Given the description of an element on the screen output the (x, y) to click on. 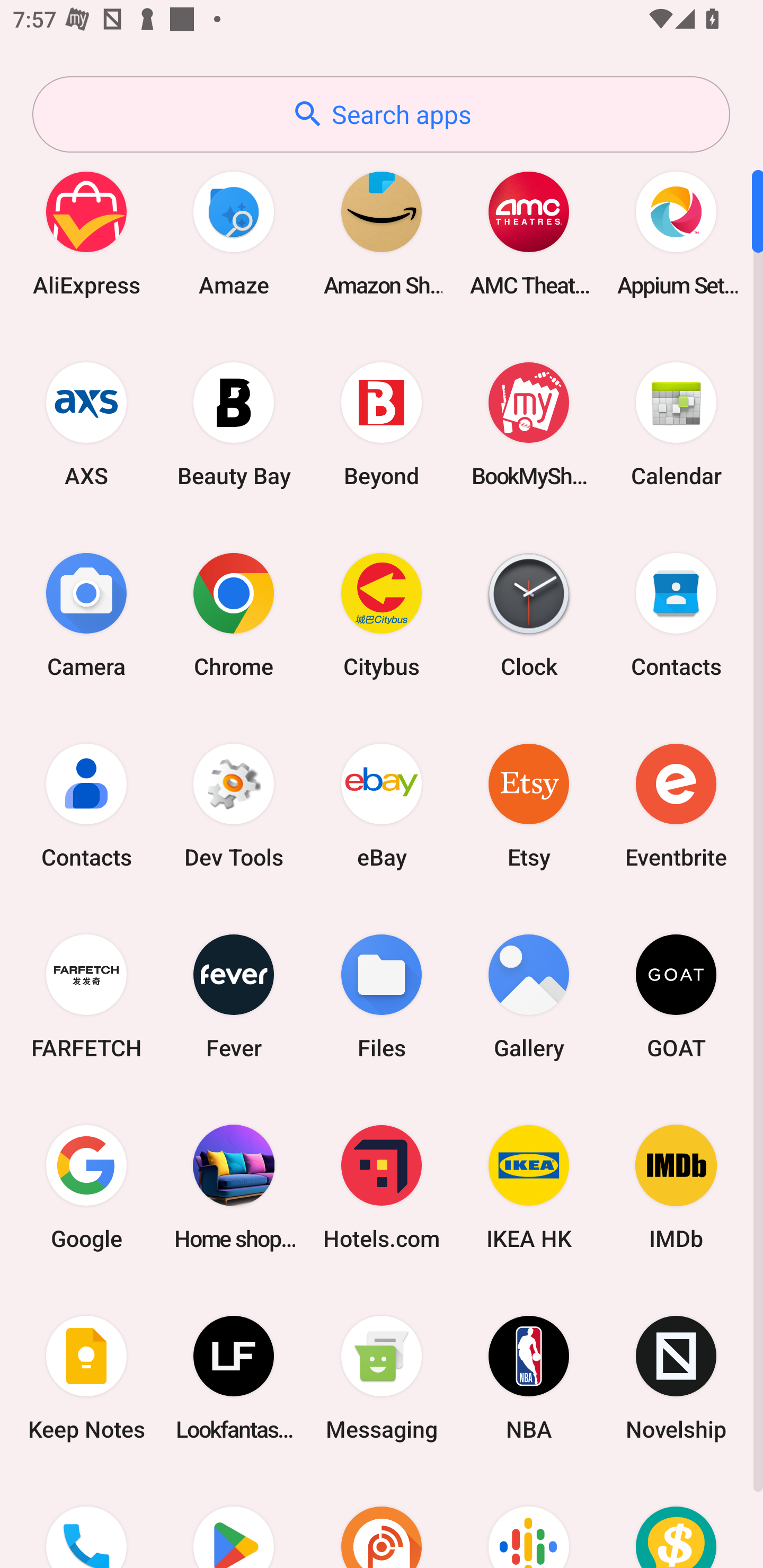
  Search apps (381, 114)
AliExpress (86, 233)
Amaze (233, 233)
Amazon Shopping (381, 233)
AMC Theatres (528, 233)
Appium Settings (676, 233)
AXS (86, 424)
Beauty Bay (233, 424)
Beyond (381, 424)
BookMyShow (528, 424)
Calendar (676, 424)
Camera (86, 614)
Chrome (233, 614)
Citybus (381, 614)
Clock (528, 614)
Contacts (676, 614)
Contacts (86, 805)
Dev Tools (233, 805)
eBay (381, 805)
Etsy (528, 805)
Eventbrite (676, 805)
FARFETCH (86, 996)
Fever (233, 996)
Files (381, 996)
Gallery (528, 996)
GOAT (676, 996)
Google (86, 1186)
Home shopping (233, 1186)
Hotels.com (381, 1186)
IKEA HK (528, 1186)
IMDb (676, 1186)
Keep Notes (86, 1377)
Lookfantastic (233, 1377)
Messaging (381, 1377)
NBA (528, 1377)
Novelship (676, 1377)
Phone (86, 1520)
Play Store (233, 1520)
Podcast Addict (381, 1520)
Podcasts (528, 1520)
Price (676, 1520)
